Given the description of an element on the screen output the (x, y) to click on. 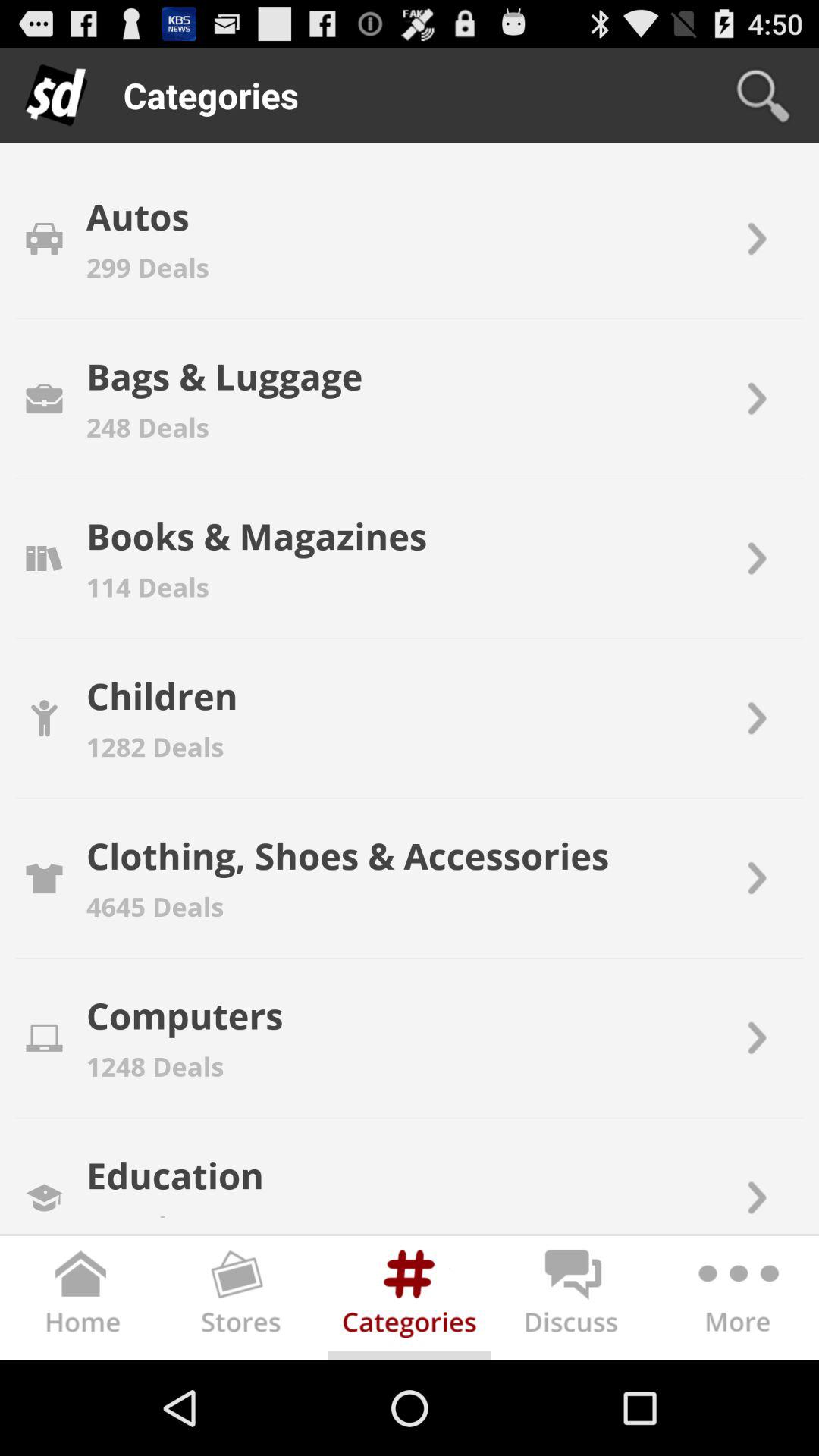
home (81, 1301)
